Given the description of an element on the screen output the (x, y) to click on. 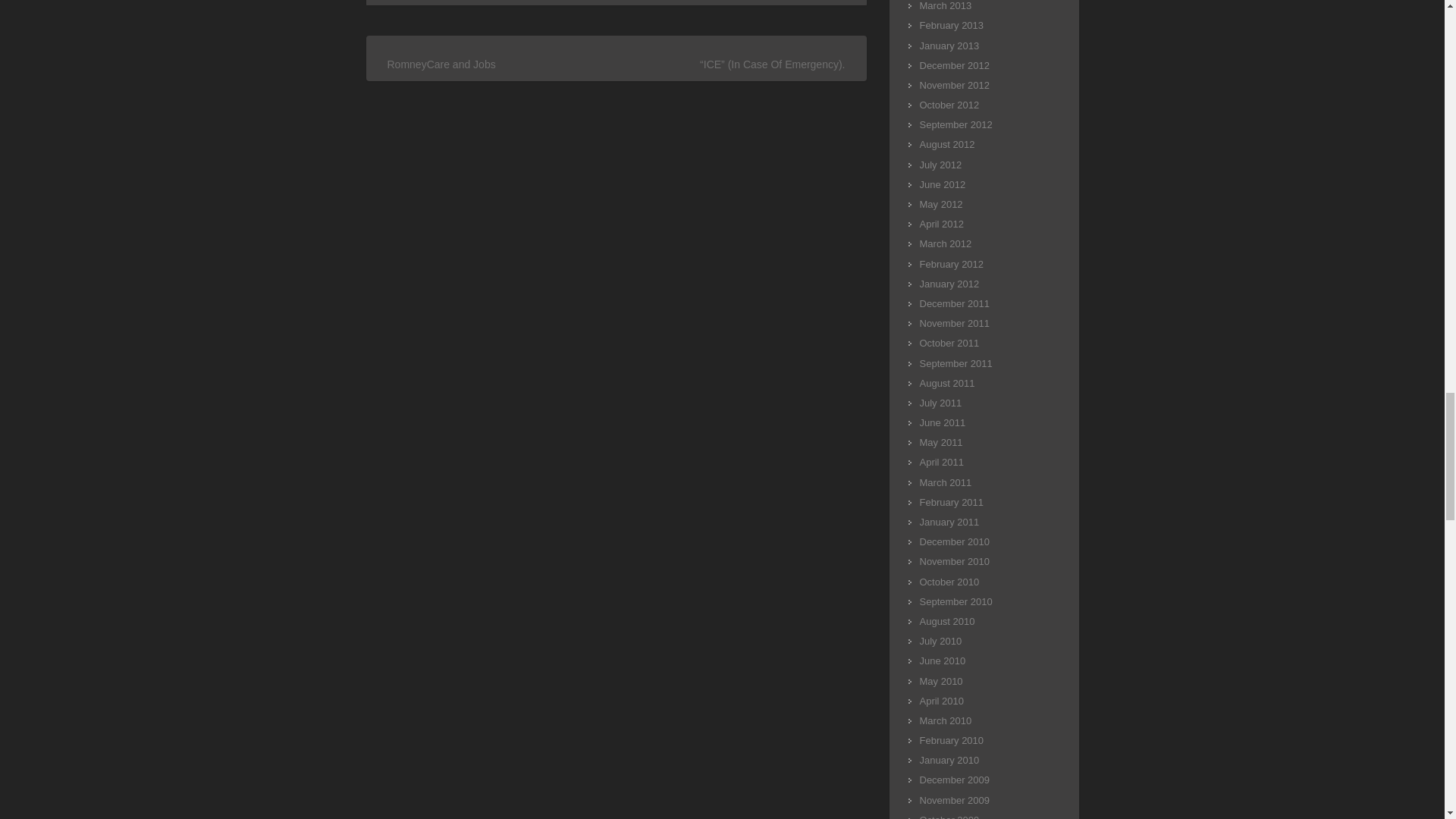
RomneyCare and Jobs (441, 63)
